Given the description of an element on the screen output the (x, y) to click on. 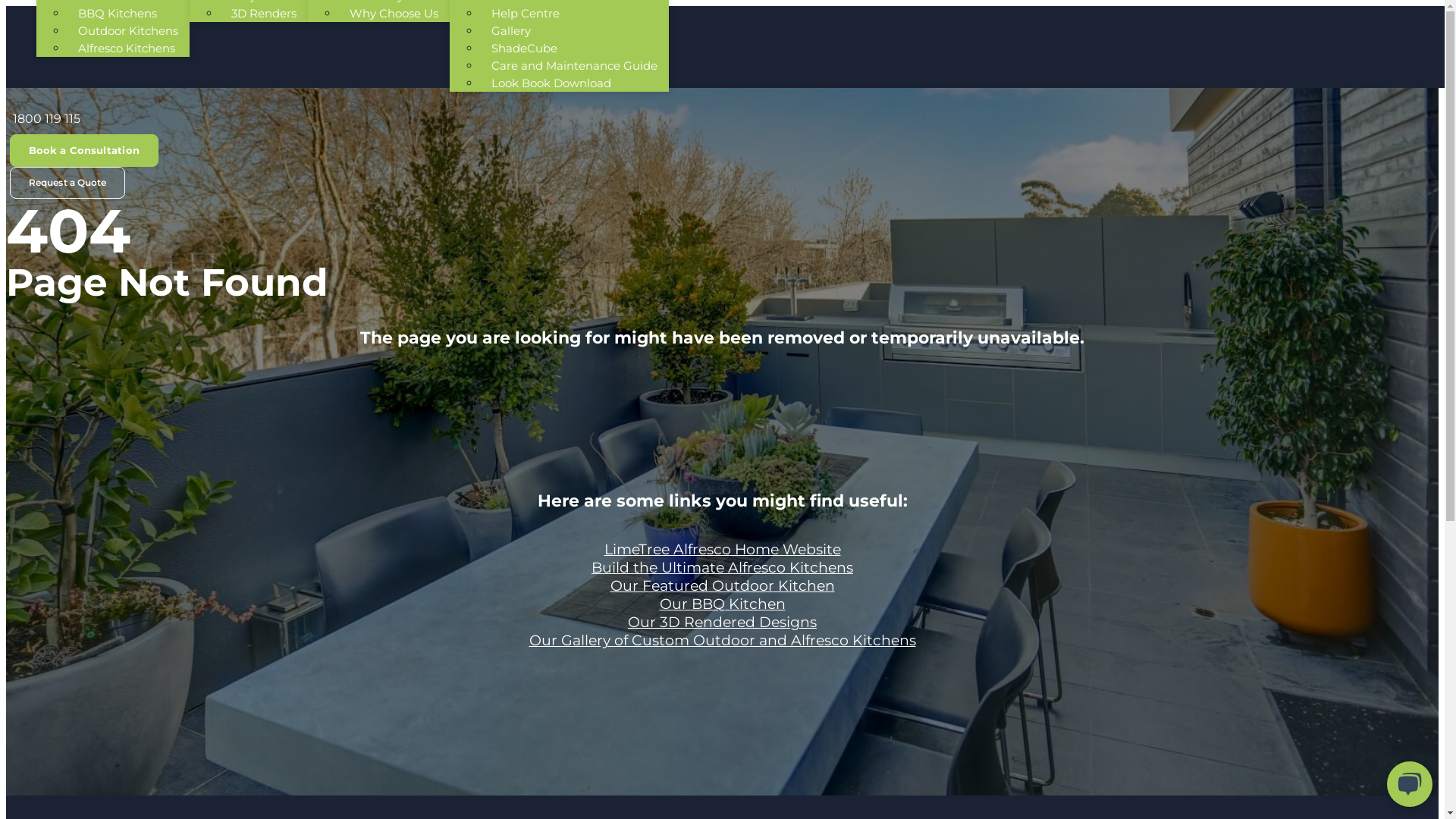
ShadeCube Element type: text (524, 47)
Look Book Download Element type: text (551, 82)
LimeTree Alfresco Home Website Element type: text (721, 549)
Alfresco Kitchens Element type: text (126, 47)
Build the Ultimate Alfresco Kitchens Element type: text (722, 567)
Our BBQ Kitchen Element type: text (722, 603)
Our 3D Rendered Designs Element type: text (721, 621)
Our Gallery of Custom Outdoor and Alfresco Kitchens Element type: text (722, 640)
Book a Consultation Element type: text (83, 150)
Gallery Element type: text (511, 30)
 1800 119 115 Element type: text (44, 118)
Request a Quote Element type: text (67, 182)
Our Featured Outdoor Kitchen Element type: text (721, 585)
Outdoor Kitchens Element type: text (127, 30)
Care and Maintenance Guide Element type: text (574, 65)
